Given the description of an element on the screen output the (x, y) to click on. 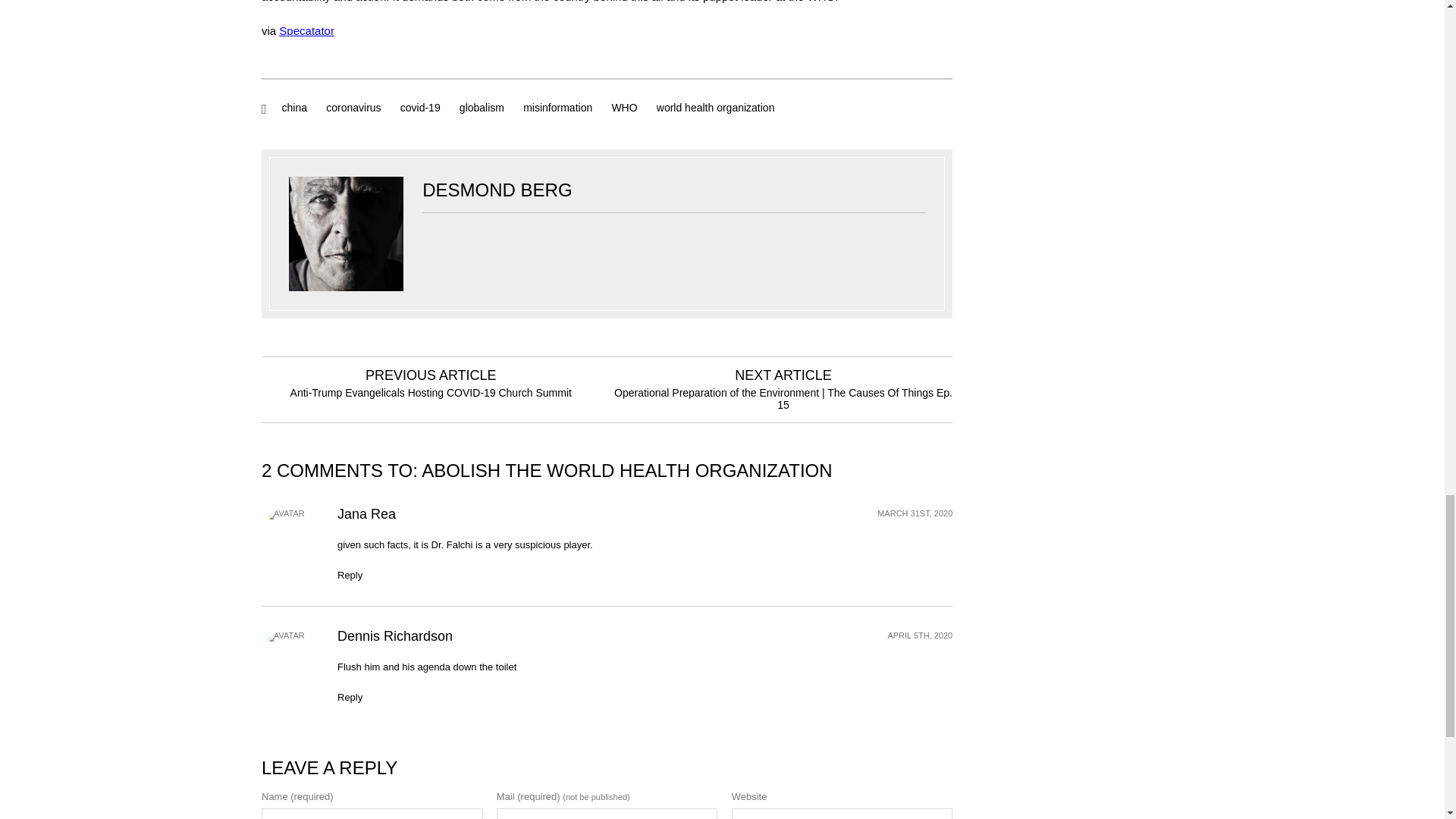
globalism (481, 107)
world health organization (716, 107)
DESMOND BERG (497, 189)
misinformation (557, 107)
Anti-Trump Evangelicals Hosting COVID-19 Church Summit (430, 392)
Posts by Desmond Berg (497, 189)
china (294, 107)
Specatator (306, 30)
WHO (624, 107)
covid-19 (420, 107)
coronavirus (353, 107)
